Given the description of an element on the screen output the (x, y) to click on. 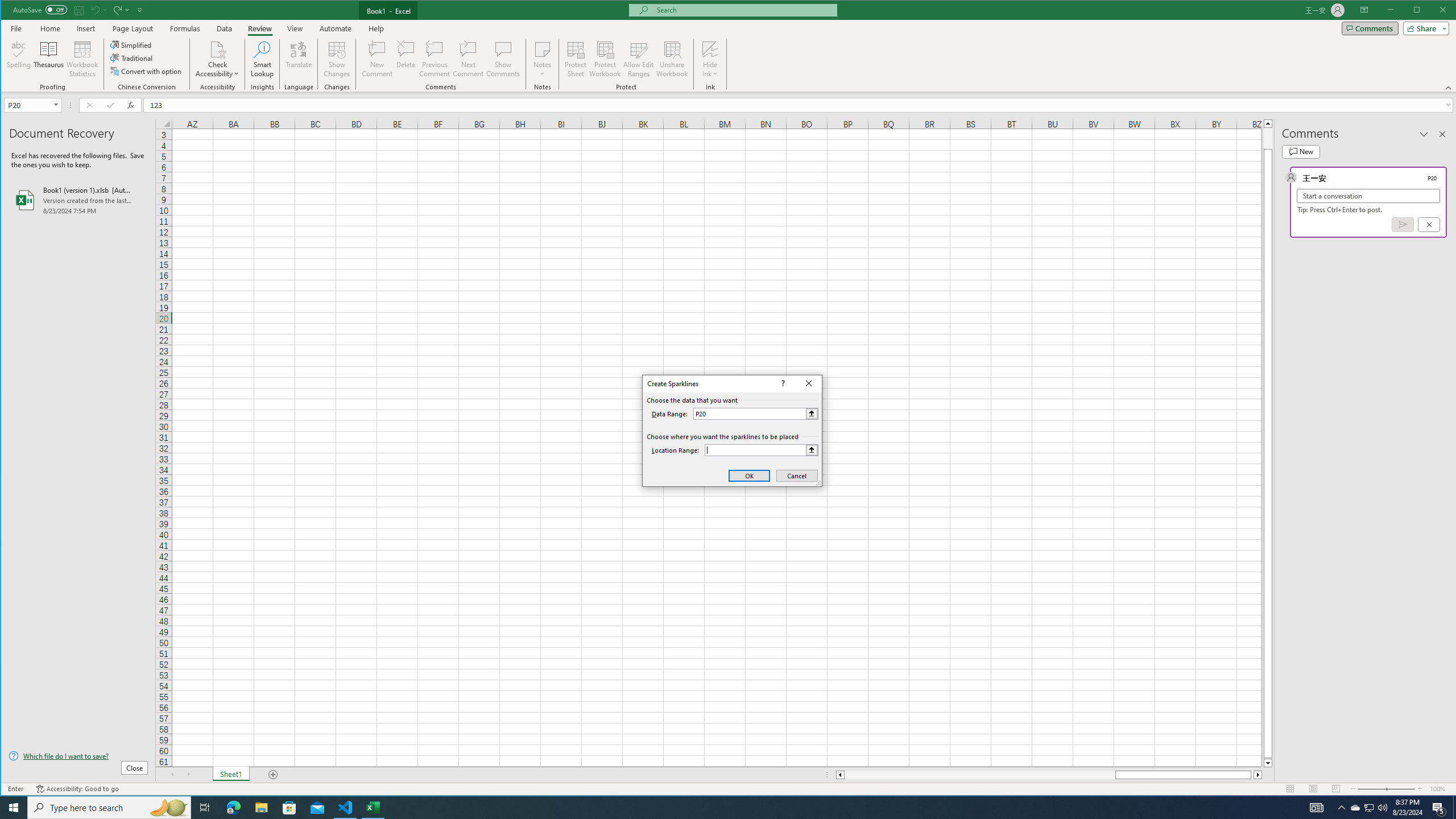
Start (13, 807)
Context help (781, 383)
Type here to search (108, 807)
Simplified (132, 44)
Search highlights icon opens search home window (167, 807)
Cancel (797, 475)
Show desktop (1454, 807)
Protect Workbook... (604, 59)
